Given the description of an element on the screen output the (x, y) to click on. 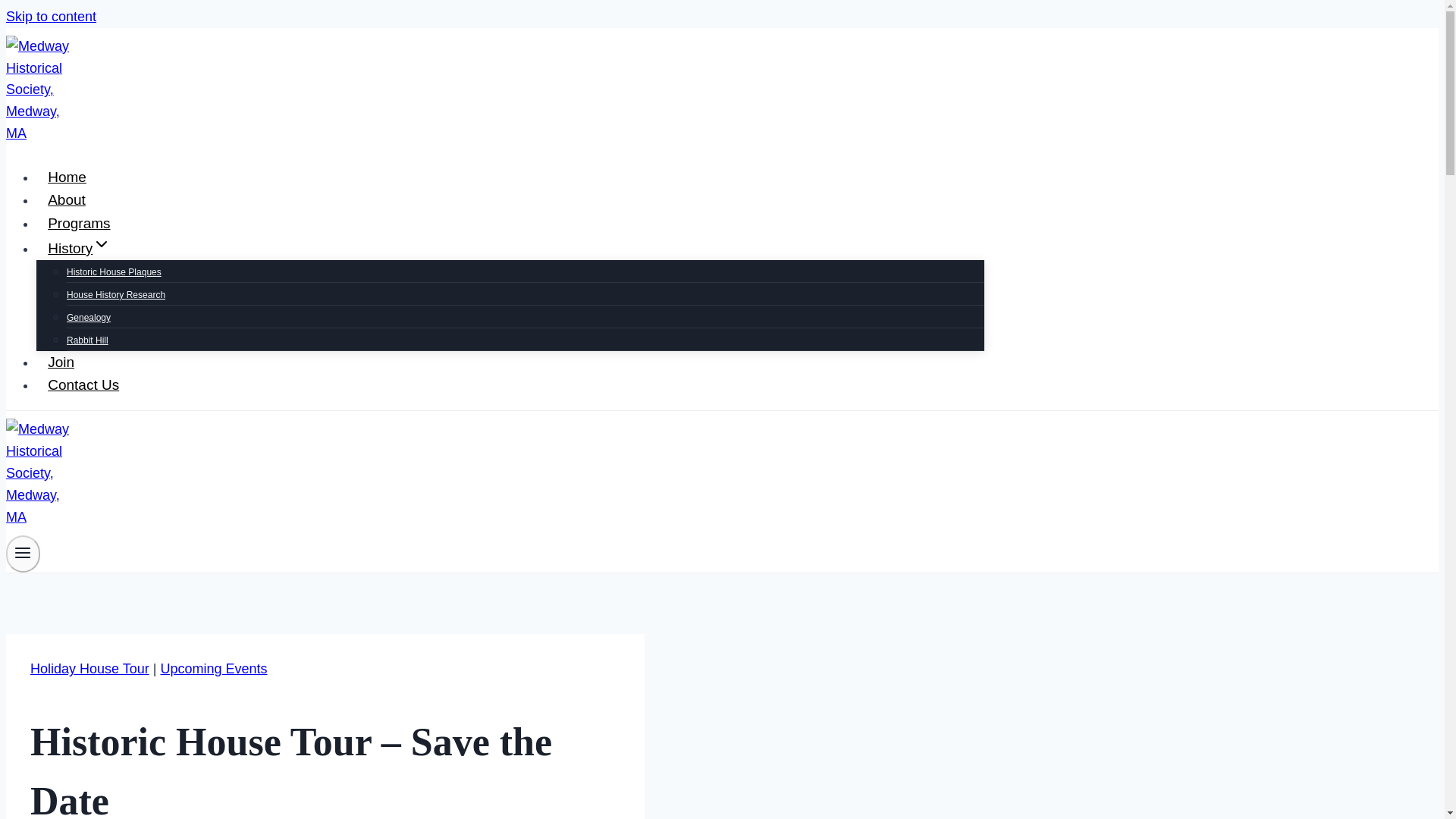
TOGGLE MENU (22, 553)
Genealogy (88, 317)
Programs (79, 222)
HistoryExpand (79, 248)
Join (60, 361)
Historic House Plaques (113, 271)
Skip to content (50, 16)
Rabbit Hill (86, 339)
TOGGLE MENU (22, 552)
Home (66, 176)
Expand (101, 244)
Contact Us (83, 384)
Skip to content (50, 16)
About (66, 199)
Holiday House Tour (89, 668)
